Given the description of an element on the screen output the (x, y) to click on. 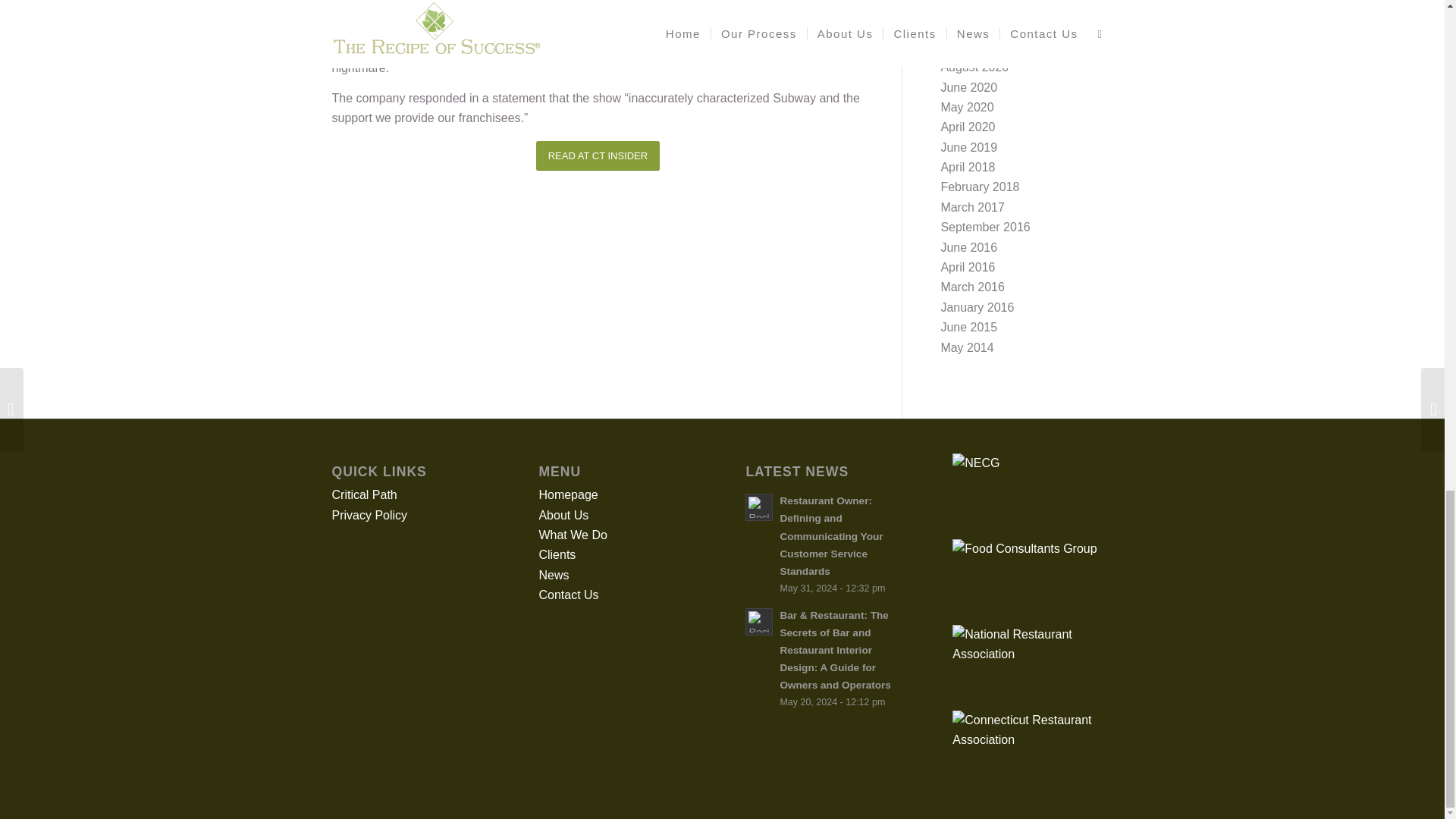
READ AT CT INSIDER (597, 155)
